Given the description of an element on the screen output the (x, y) to click on. 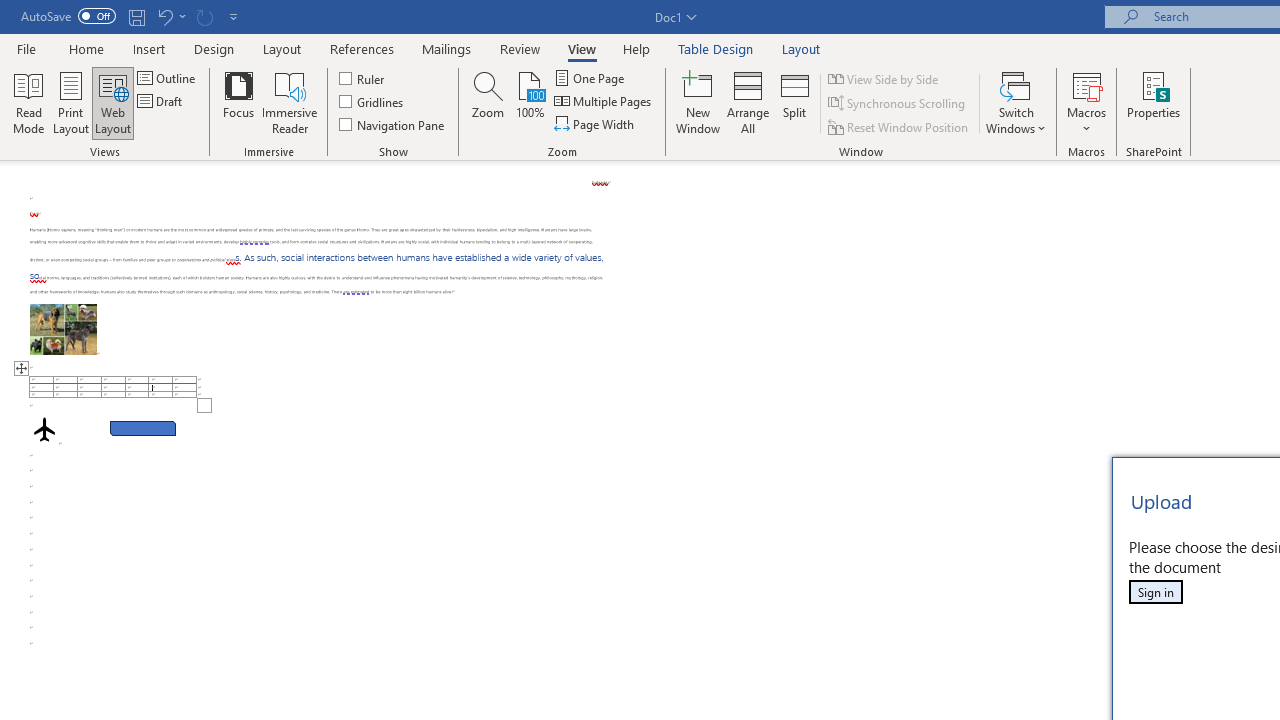
Reset Window Position (900, 126)
Macros (1086, 102)
Page Width (595, 124)
Gridlines (372, 101)
Airplane with solid fill (43, 429)
Morphological variation in six dogs (63, 328)
Undo Row Height Spinner (164, 15)
